Given the description of an element on the screen output the (x, y) to click on. 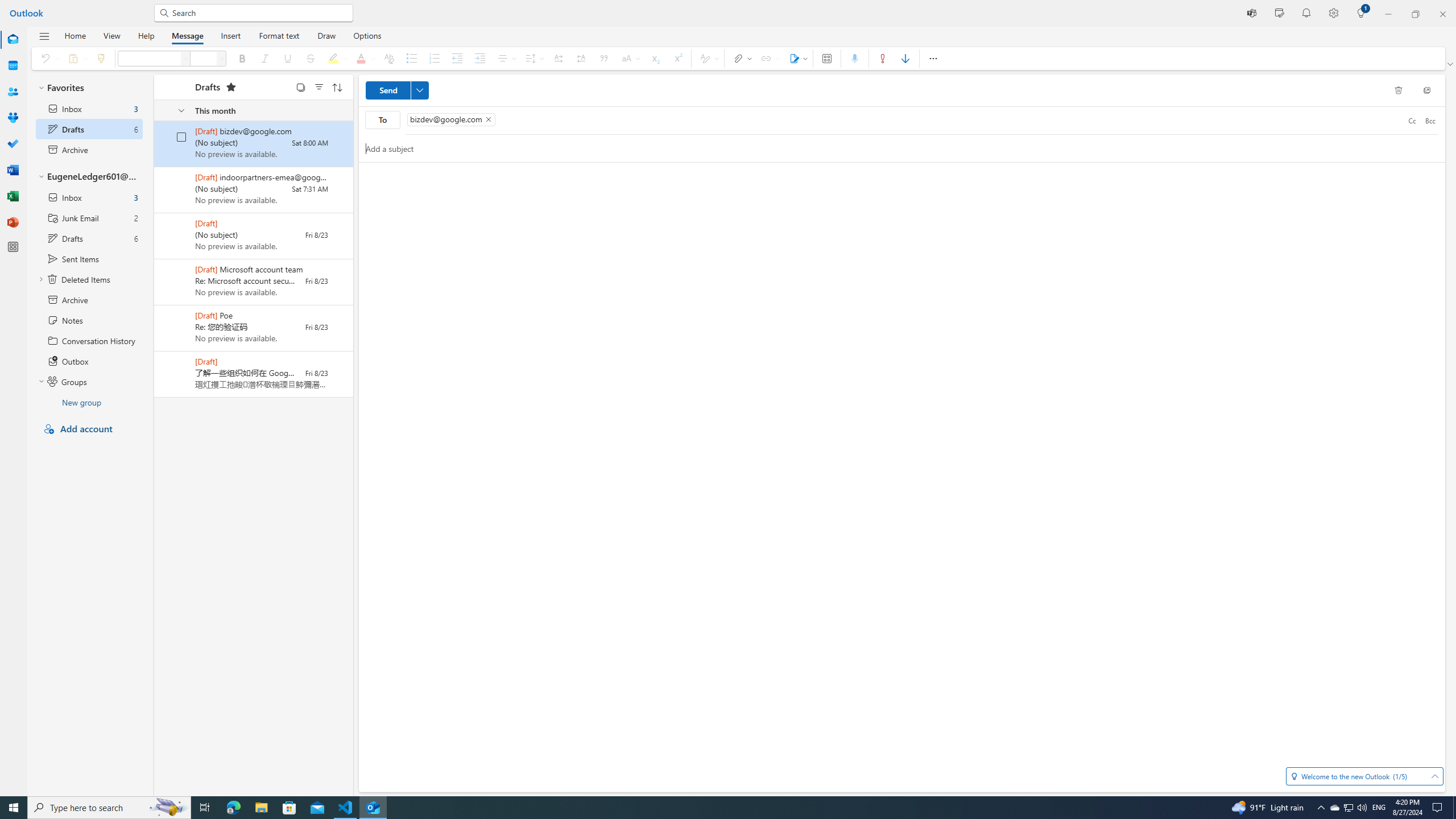
Font color (363, 58)
 [Draft] (No subject) Fri 8/23 No preview is available. (253, 235)
Outlook (new) - 1 running window (373, 807)
Running applications (706, 807)
Link (768, 58)
Tray Input Indicator - English (United States) (1378, 807)
Bold (242, 58)
Home (74, 35)
Unfavoriting removes the category from your folder pane (230, 86)
Add account (89, 429)
Font size (203, 58)
More options (932, 58)
